Given the description of an element on the screen output the (x, y) to click on. 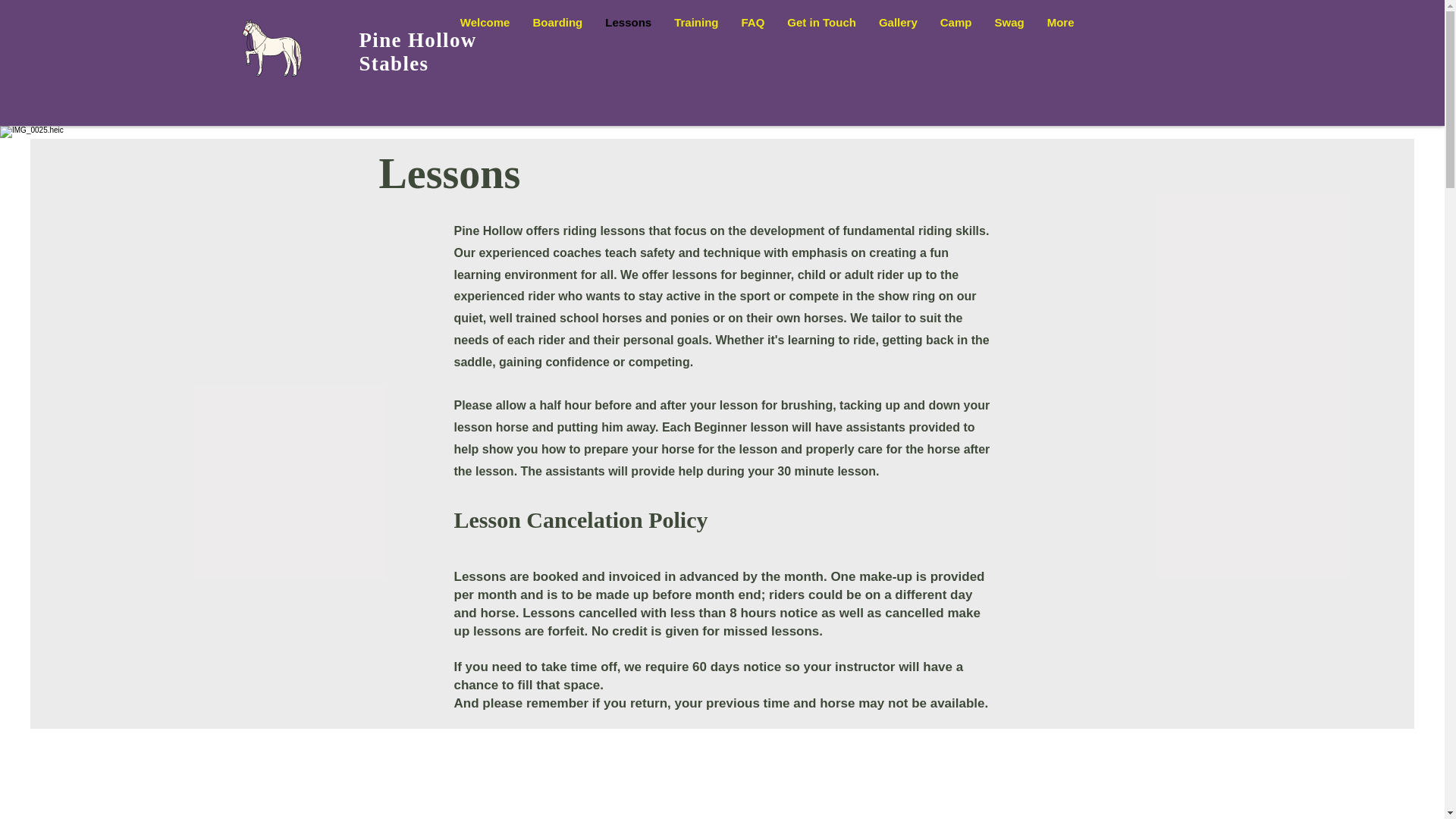
Welcome (484, 48)
Gallery (897, 48)
Training (695, 48)
Get in Touch (821, 48)
Lessons (628, 48)
Pine Hollow Stables (418, 51)
Boarding (557, 48)
